Given the description of an element on the screen output the (x, y) to click on. 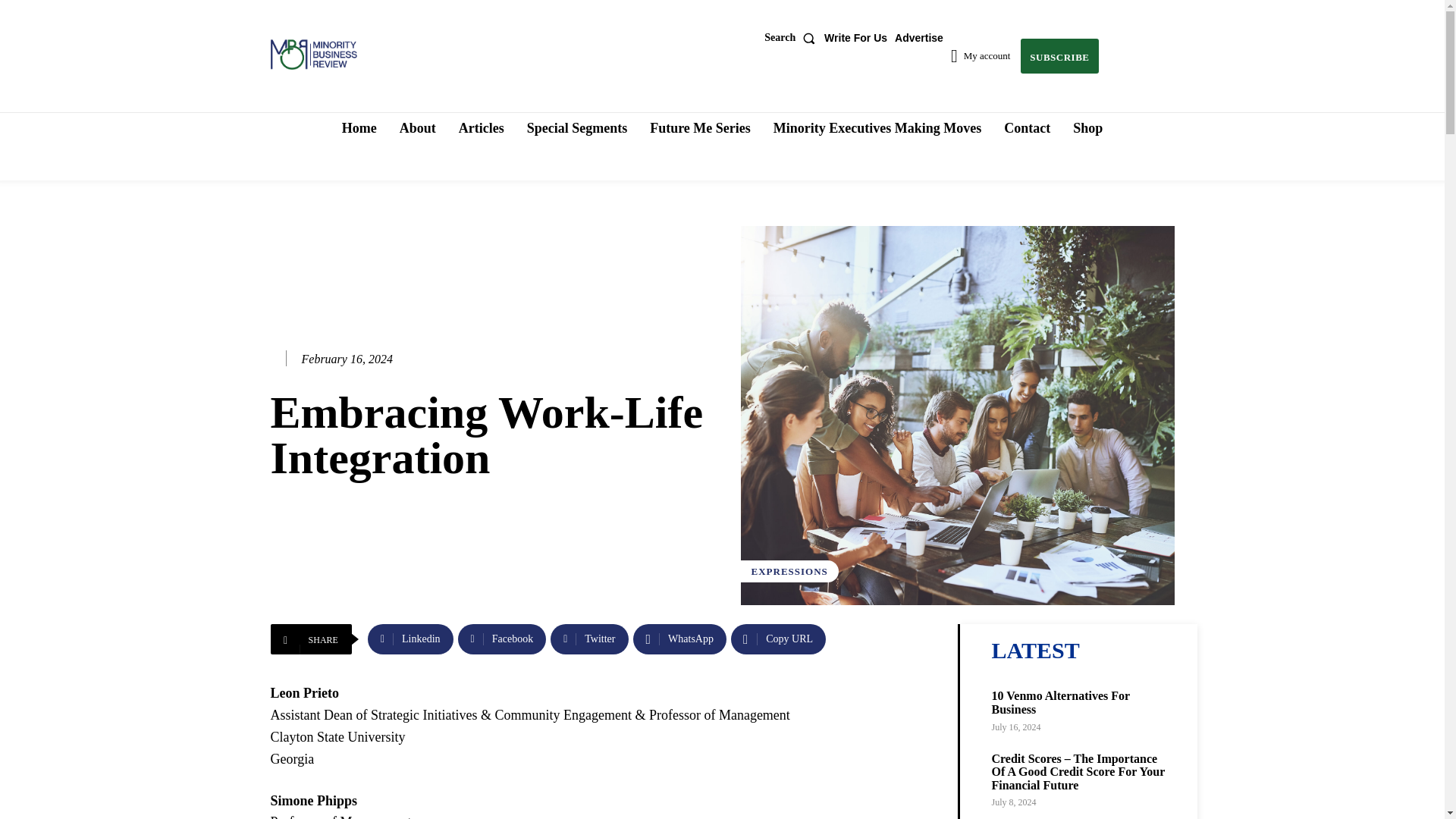
Write For Us (855, 37)
SUBSCRIBE (1058, 56)
Home (359, 128)
Search (792, 38)
Subscribe (1058, 56)
Advertise (919, 37)
Articles (481, 128)
About (417, 128)
